Given the description of an element on the screen output the (x, y) to click on. 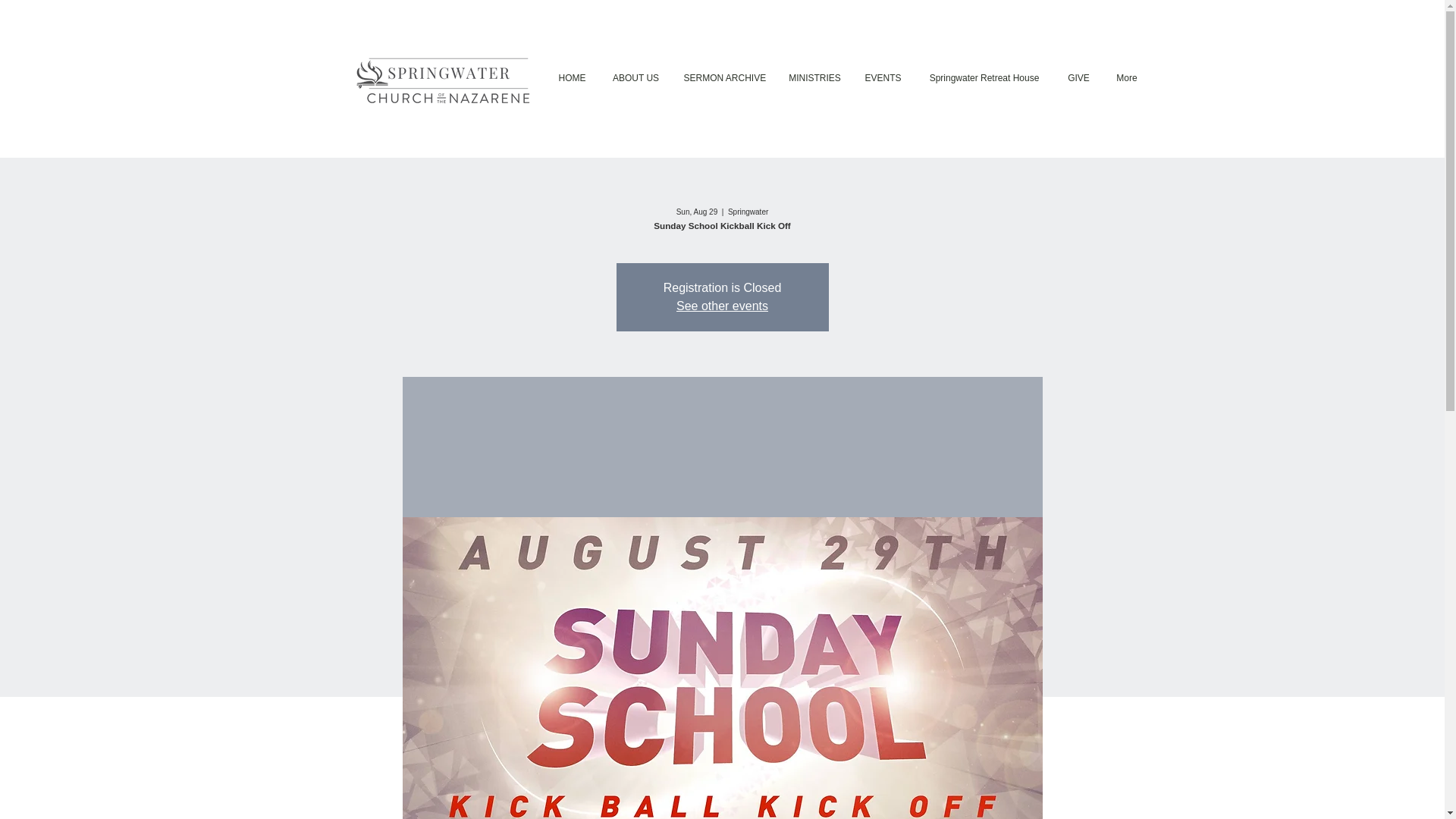
Logo Simple Dove.png (447, 78)
SERMON ARCHIVE (723, 78)
HOME (571, 78)
ABOUT US (634, 78)
Springwater Retreat House (983, 78)
GIVE (1078, 78)
EVENTS (881, 78)
MINISTRIES (813, 78)
See other events (722, 305)
